Given the description of an element on the screen output the (x, y) to click on. 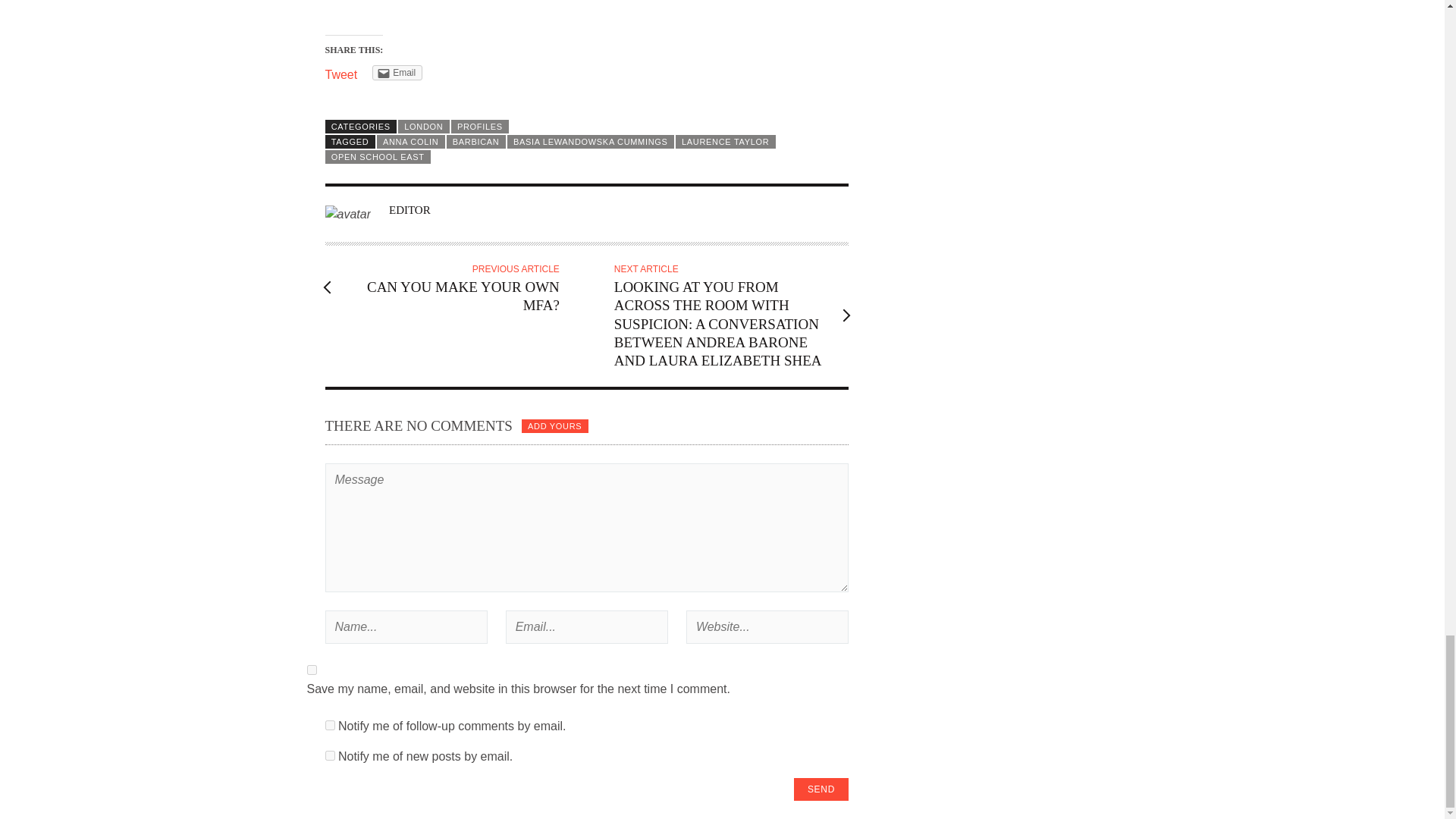
Send (820, 789)
View all posts tagged Open School East (376, 156)
View all posts tagged Barbican (475, 141)
Posts by Editor (409, 209)
View all posts tagged Anna Colin (411, 141)
View all posts tagged Laurence Taylor (725, 141)
subscribe (329, 725)
View all posts tagged Basia Lewandowska Cummings (590, 141)
View all posts in Profiles (479, 126)
Click to email this to a friend (397, 72)
yes (310, 669)
View all posts in London (423, 126)
subscribe (329, 755)
